Given the description of an element on the screen output the (x, y) to click on. 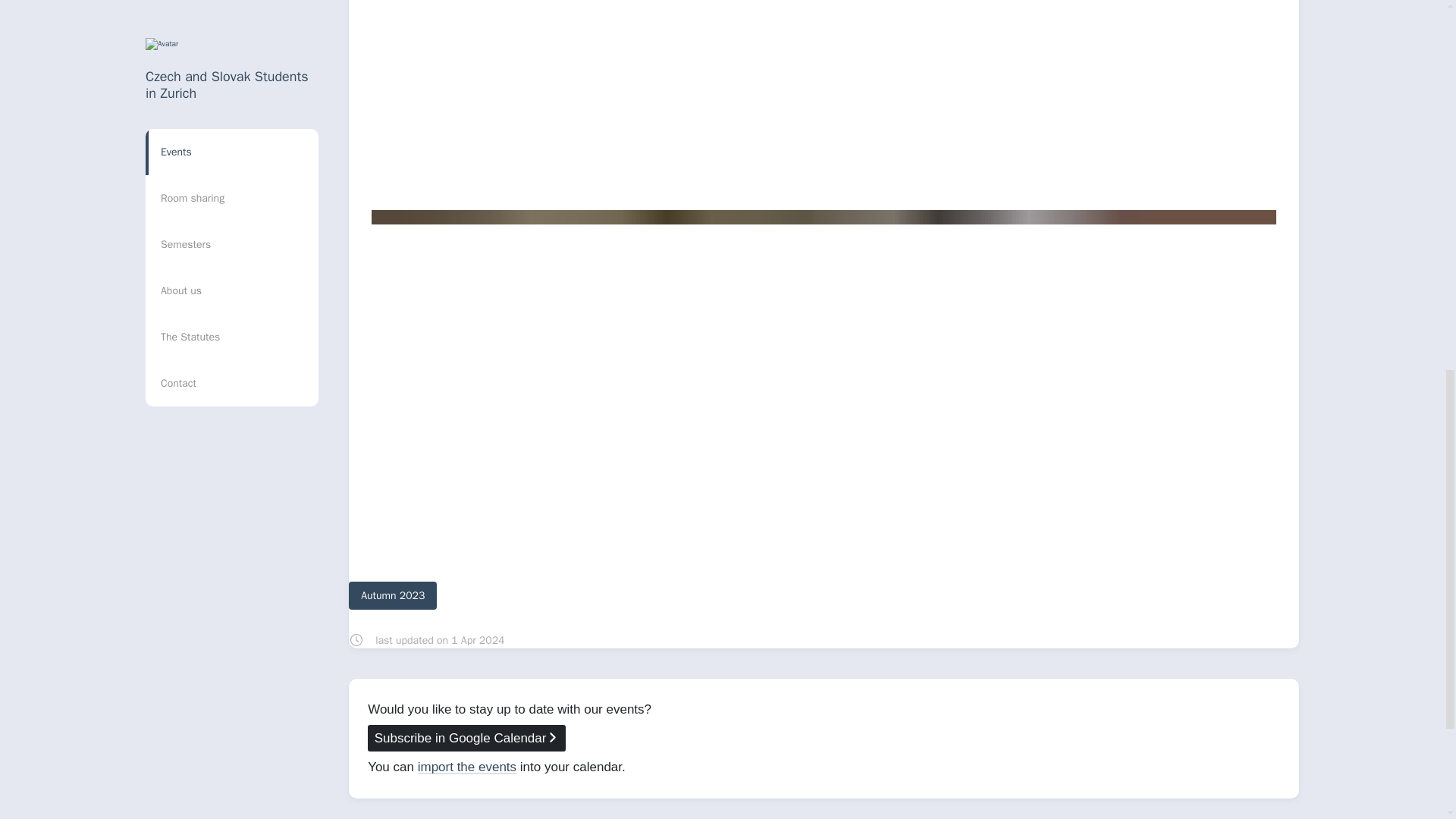
Autumn 2023 (392, 595)
Subscribe in Google Calendar (467, 737)
import the events (466, 766)
